Given the description of an element on the screen output the (x, y) to click on. 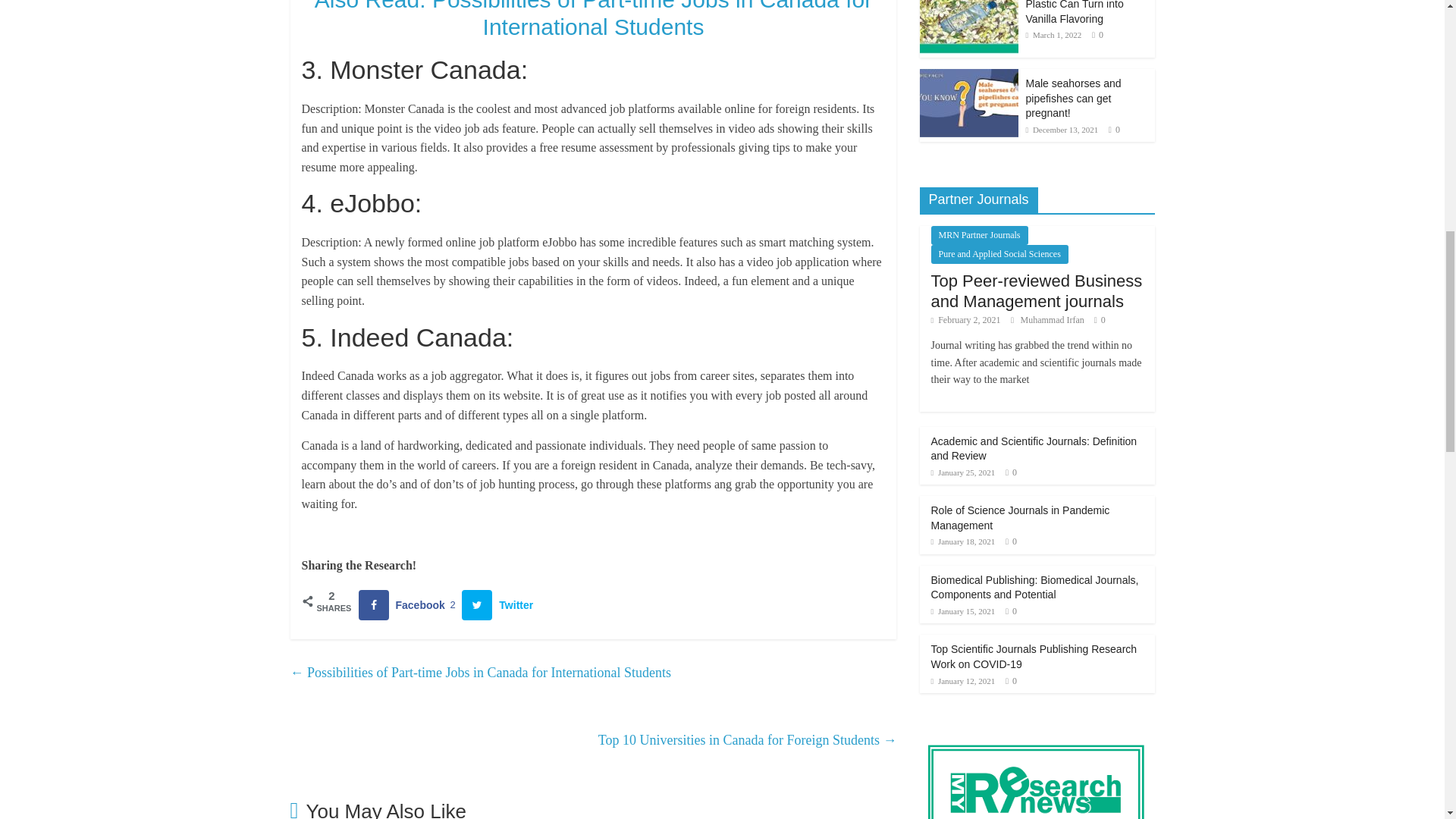
Twitter (500, 604)
Share on Twitter (500, 604)
Share on Facebook (409, 604)
